Given the description of an element on the screen output the (x, y) to click on. 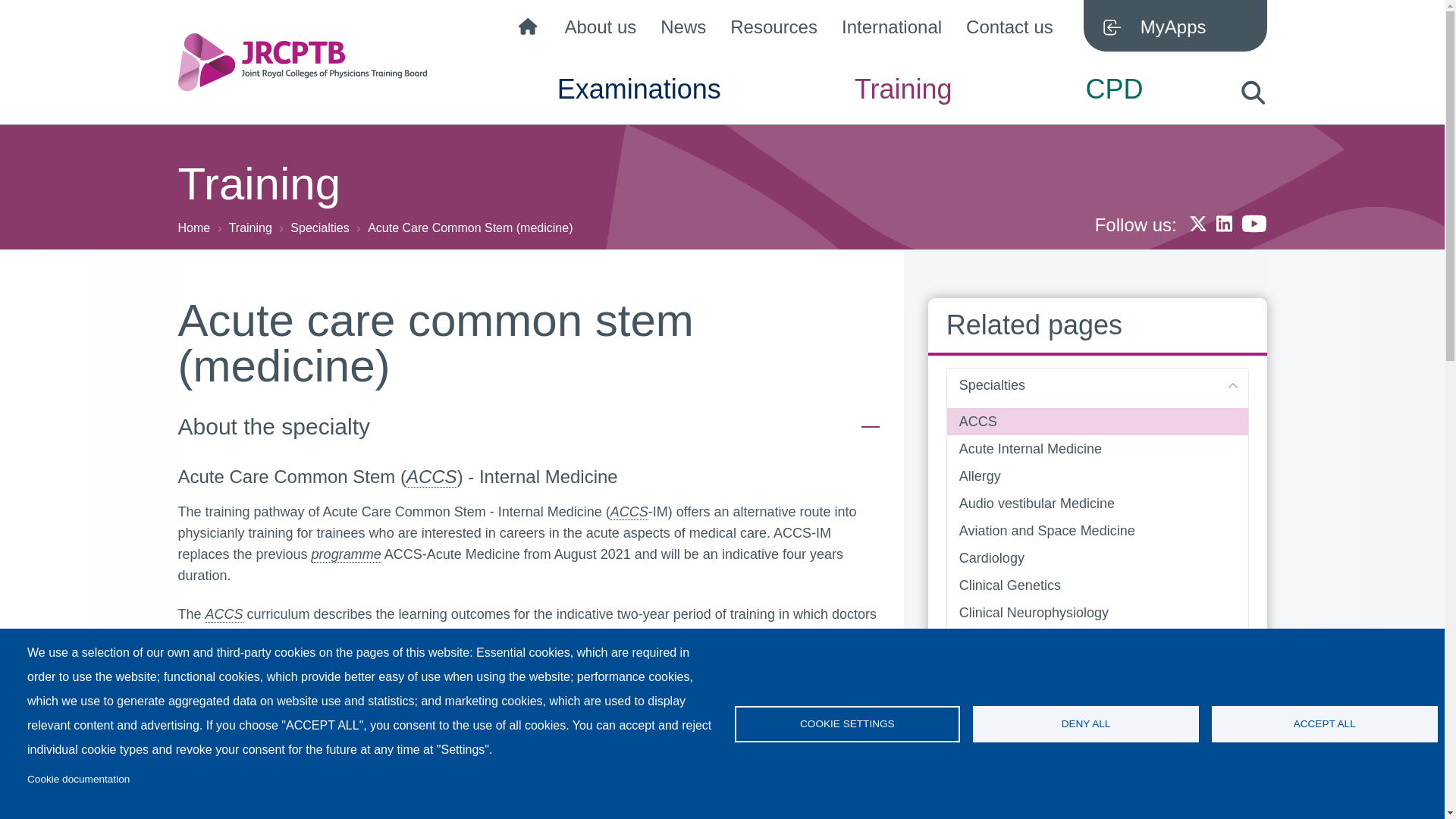
Contact us (1009, 30)
News (683, 30)
Resources (773, 30)
About us (600, 30)
International (891, 30)
Examinations (638, 102)
